Given the description of an element on the screen output the (x, y) to click on. 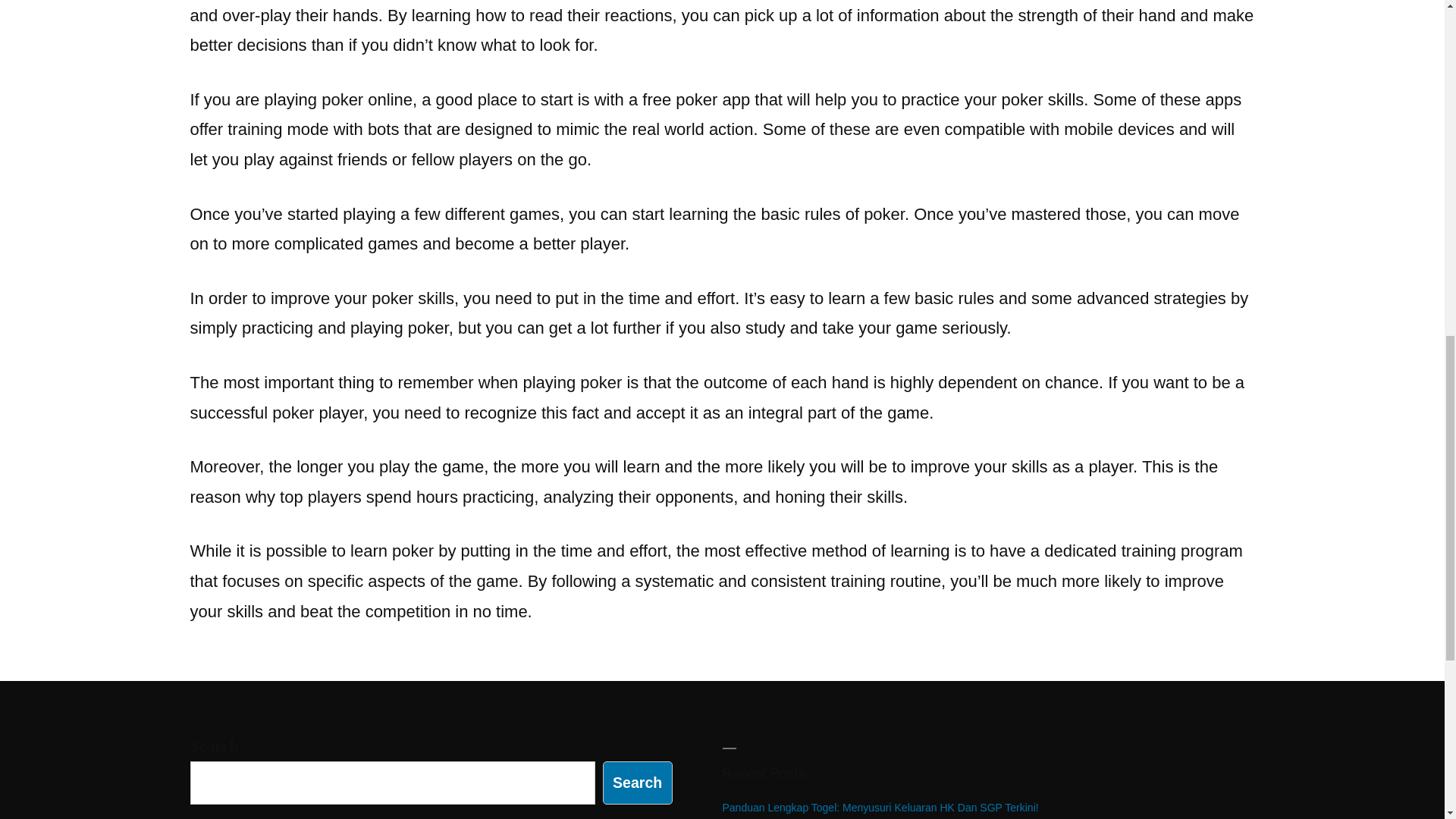
Search (637, 782)
